Given the description of an element on the screen output the (x, y) to click on. 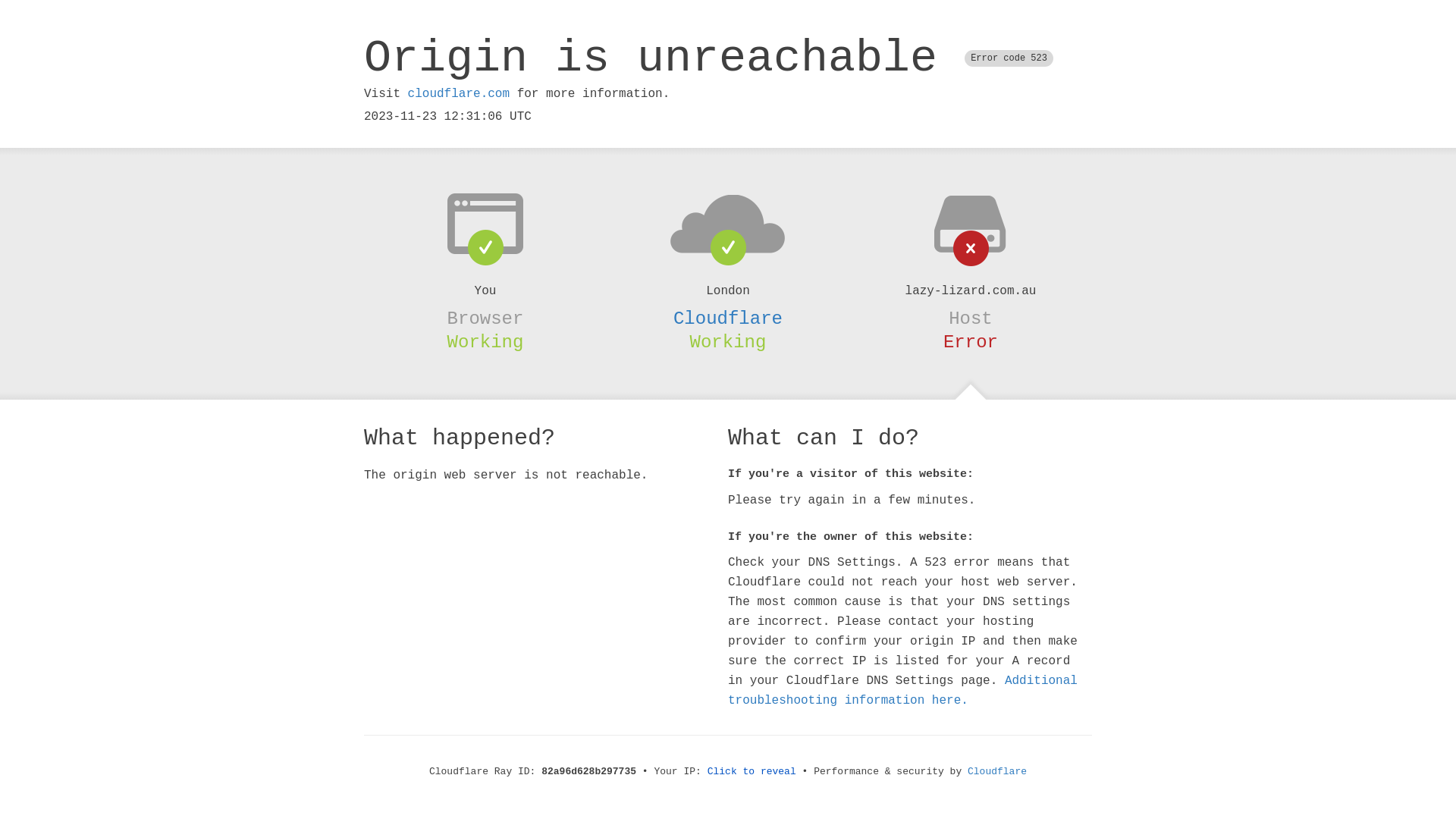
Click to reveal Element type: text (751, 771)
Additional troubleshooting information here. Element type: text (902, 690)
Cloudflare Element type: text (727, 318)
Cloudflare Element type: text (996, 771)
cloudflare.com Element type: text (458, 93)
